Given the description of an element on the screen output the (x, y) to click on. 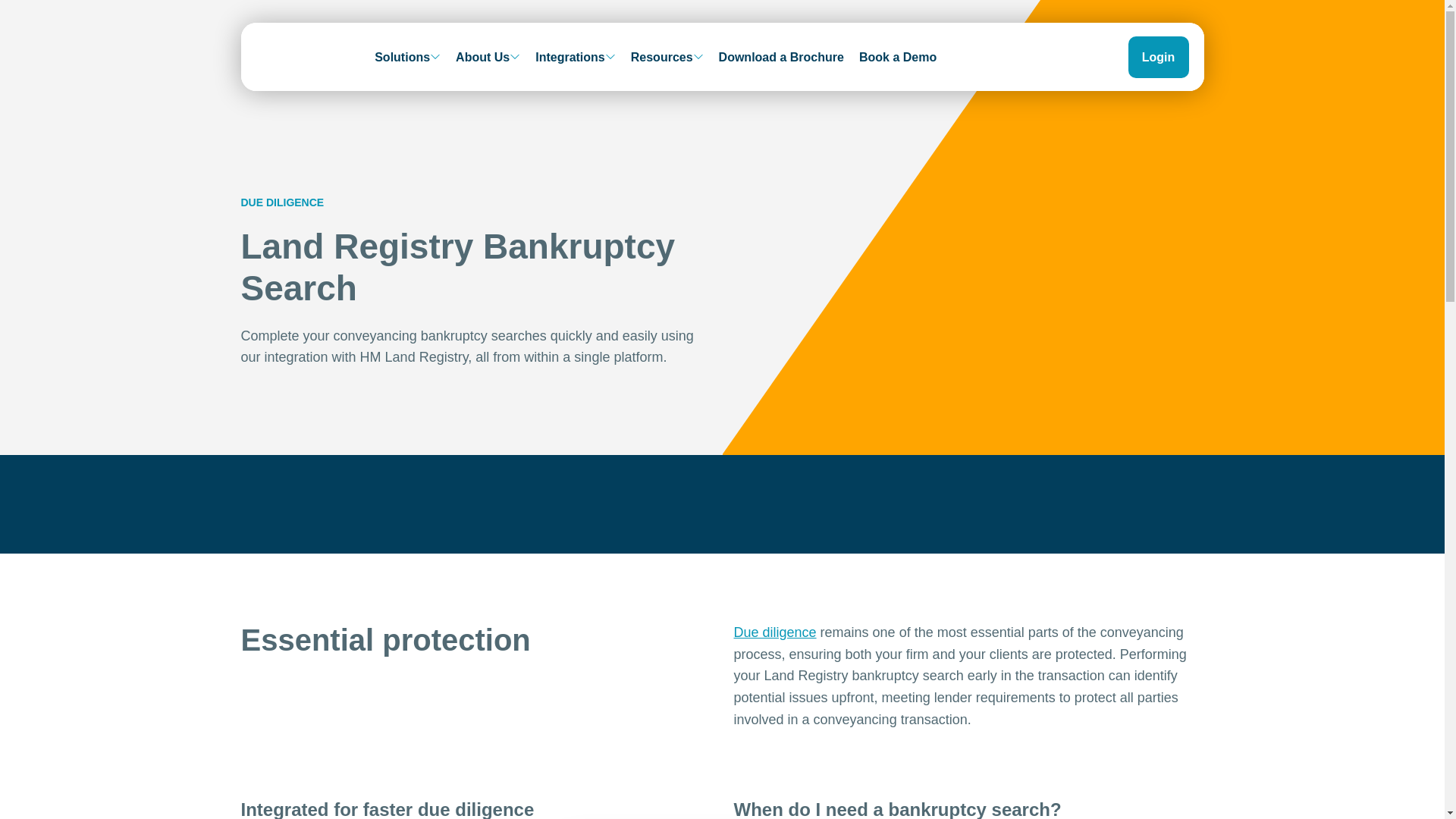
Due Diligence (774, 631)
Login (1158, 56)
Login (1158, 2)
